Given the description of an element on the screen output the (x, y) to click on. 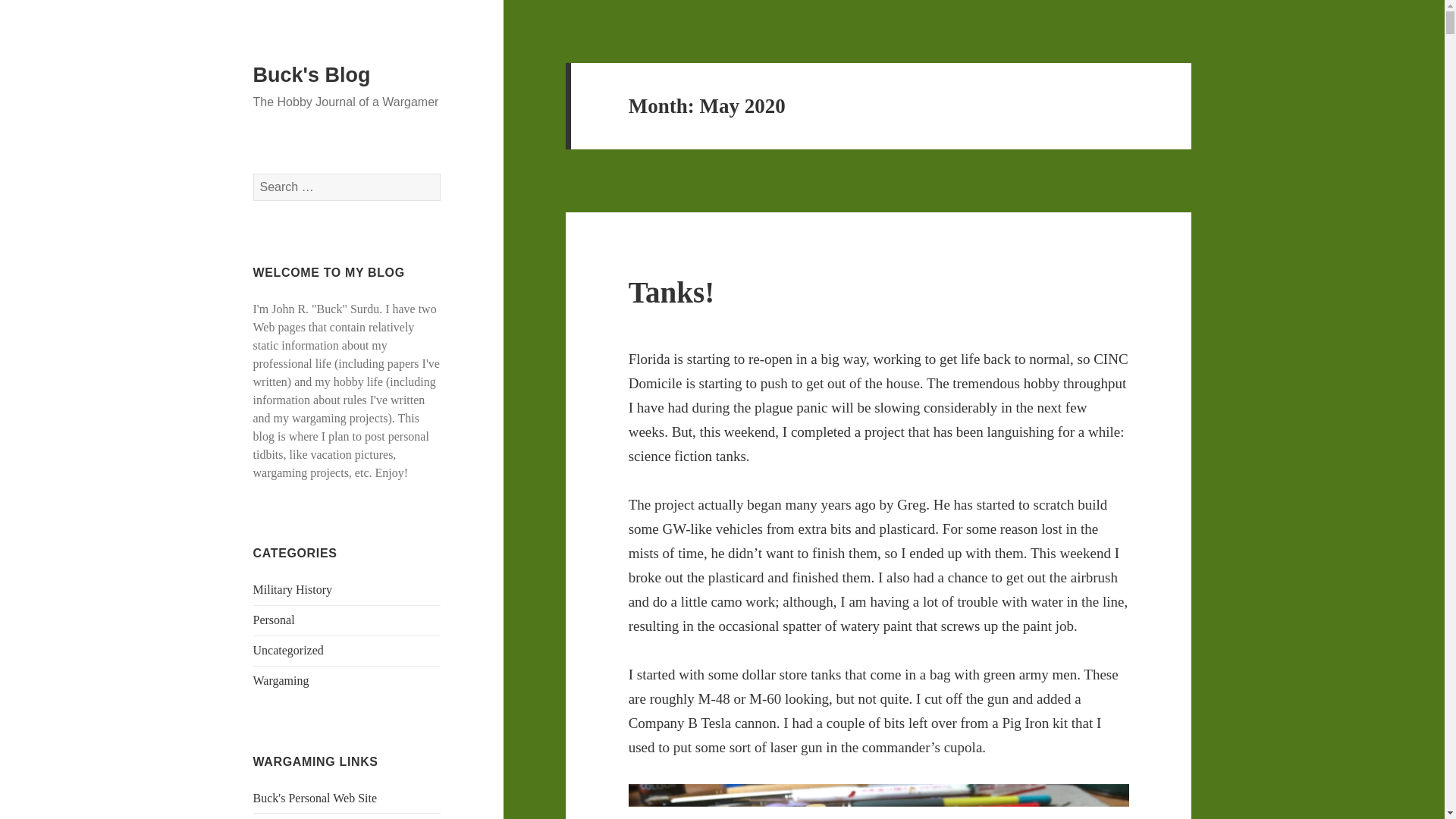
Military History (292, 589)
Personal (274, 619)
Uncategorized (288, 649)
Wargaming (280, 680)
Buck's Personal Web Site (315, 797)
Buck's Blog (312, 74)
